Given the description of an element on the screen output the (x, y) to click on. 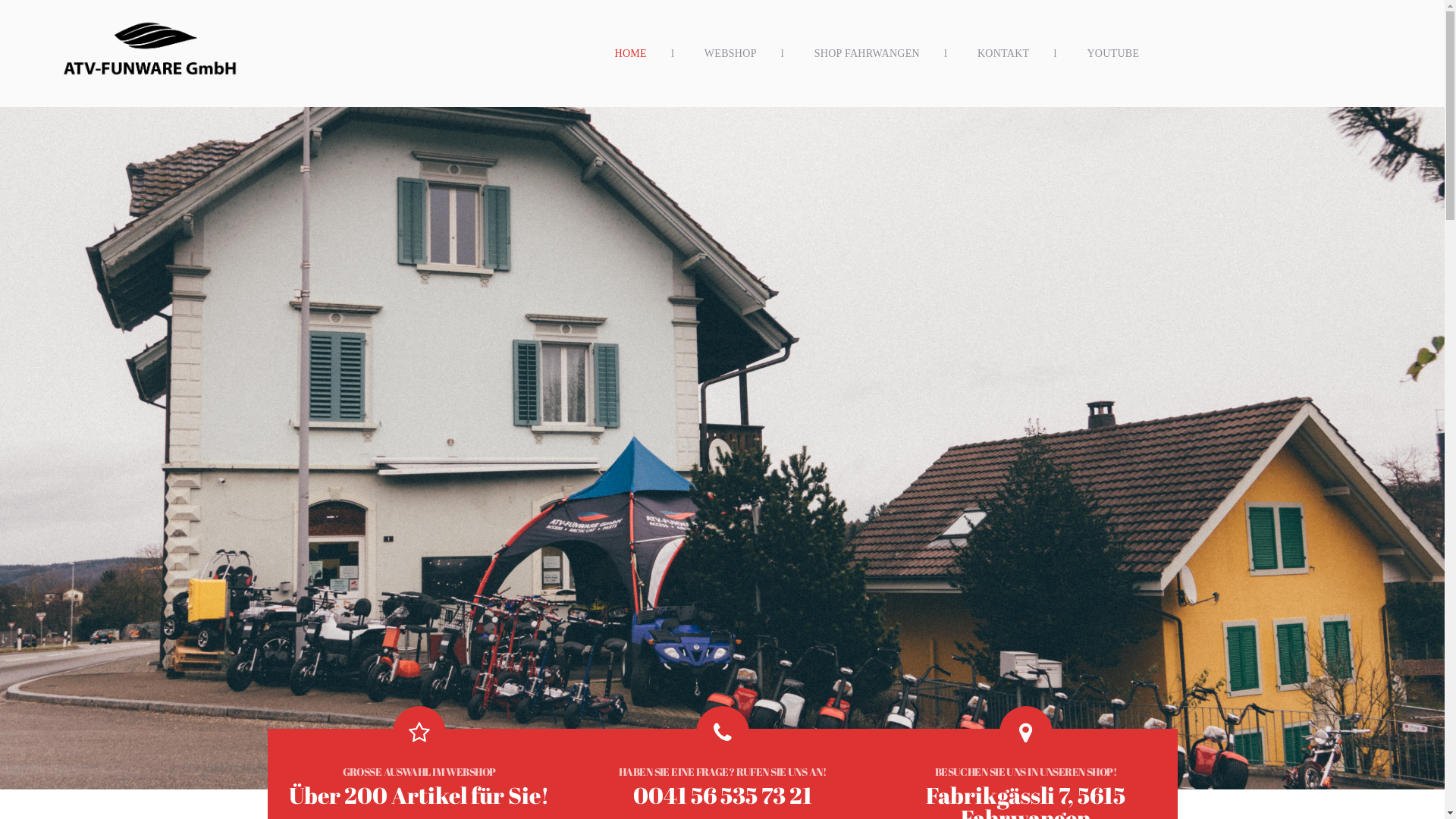
HOME Element type: text (630, 53)
SHOP FAHRWANGEN Element type: text (866, 53)
KONTAKT Element type: text (1003, 53)
WEBSHOP Element type: text (730, 53)
YOUTUBE Element type: text (1112, 53)
